Given the description of an element on the screen output the (x, y) to click on. 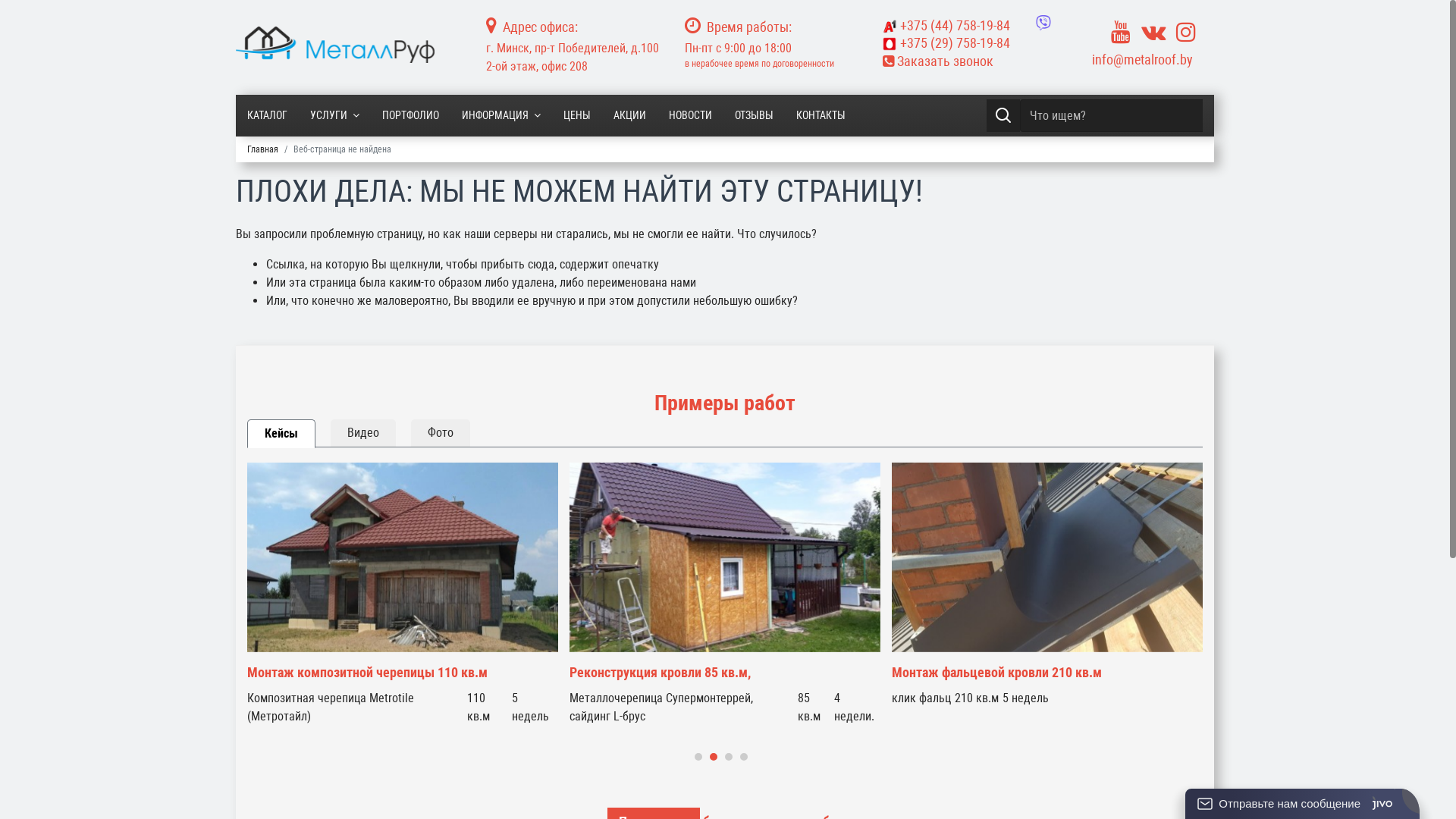
+375 (44) 758-19-84 Element type: text (946, 25)
+375 (29) 758-19-84 Element type: text (970, 42)
info@metalroof.by Element type: text (1142, 59)
